Given the description of an element on the screen output the (x, y) to click on. 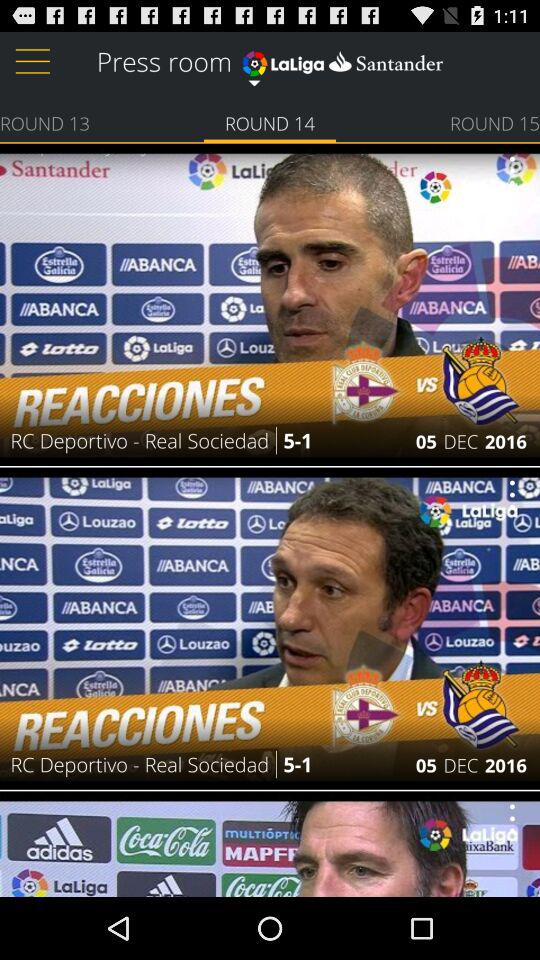
turn on app to the right of round 14 (494, 122)
